Given the description of an element on the screen output the (x, y) to click on. 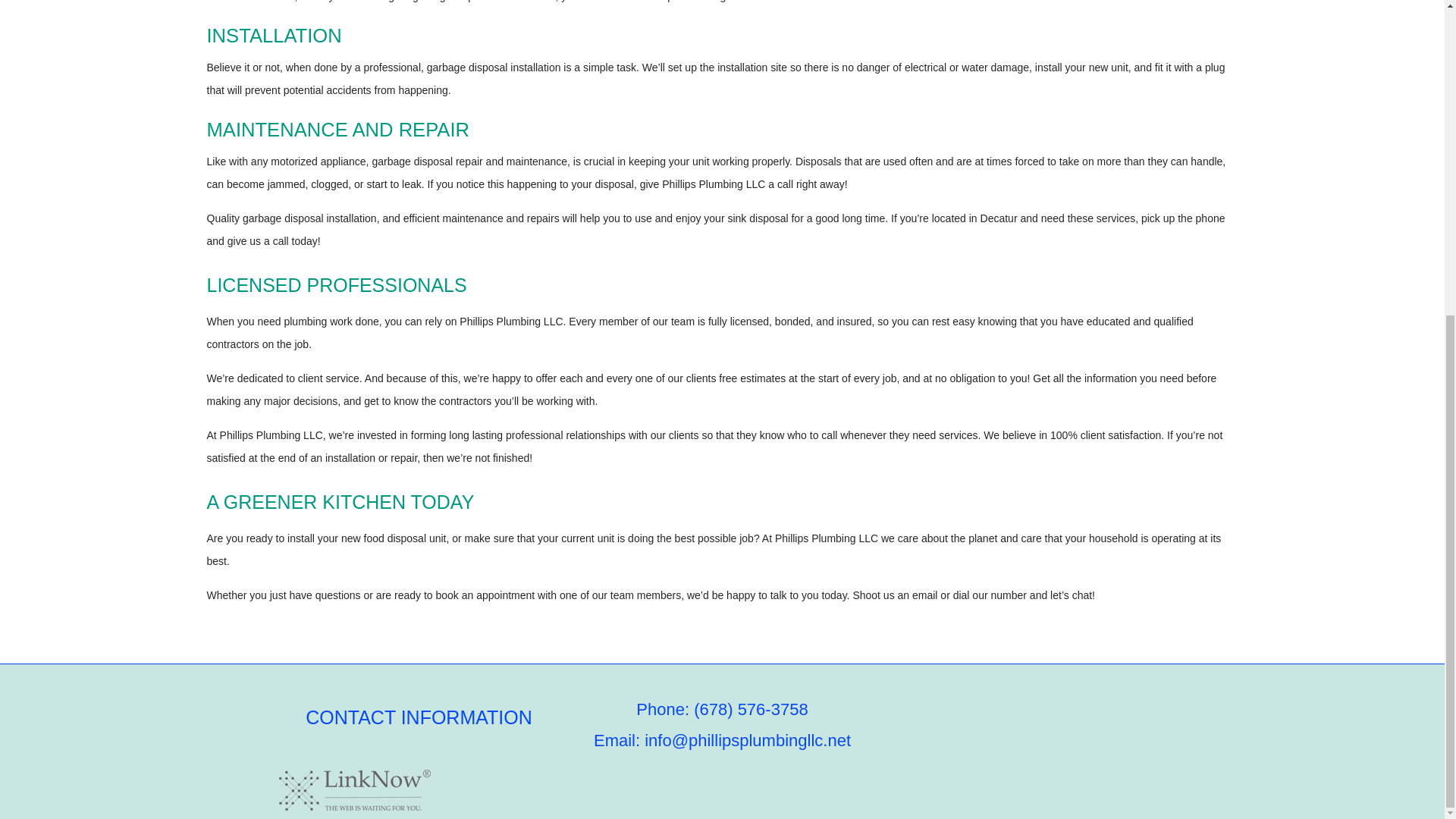
Phillips Plumbing LLC's Twitter Page (1025, 722)
Phillips Plumbing LLC's Facebook Page (1005, 722)
